Given the description of an element on the screen output the (x, y) to click on. 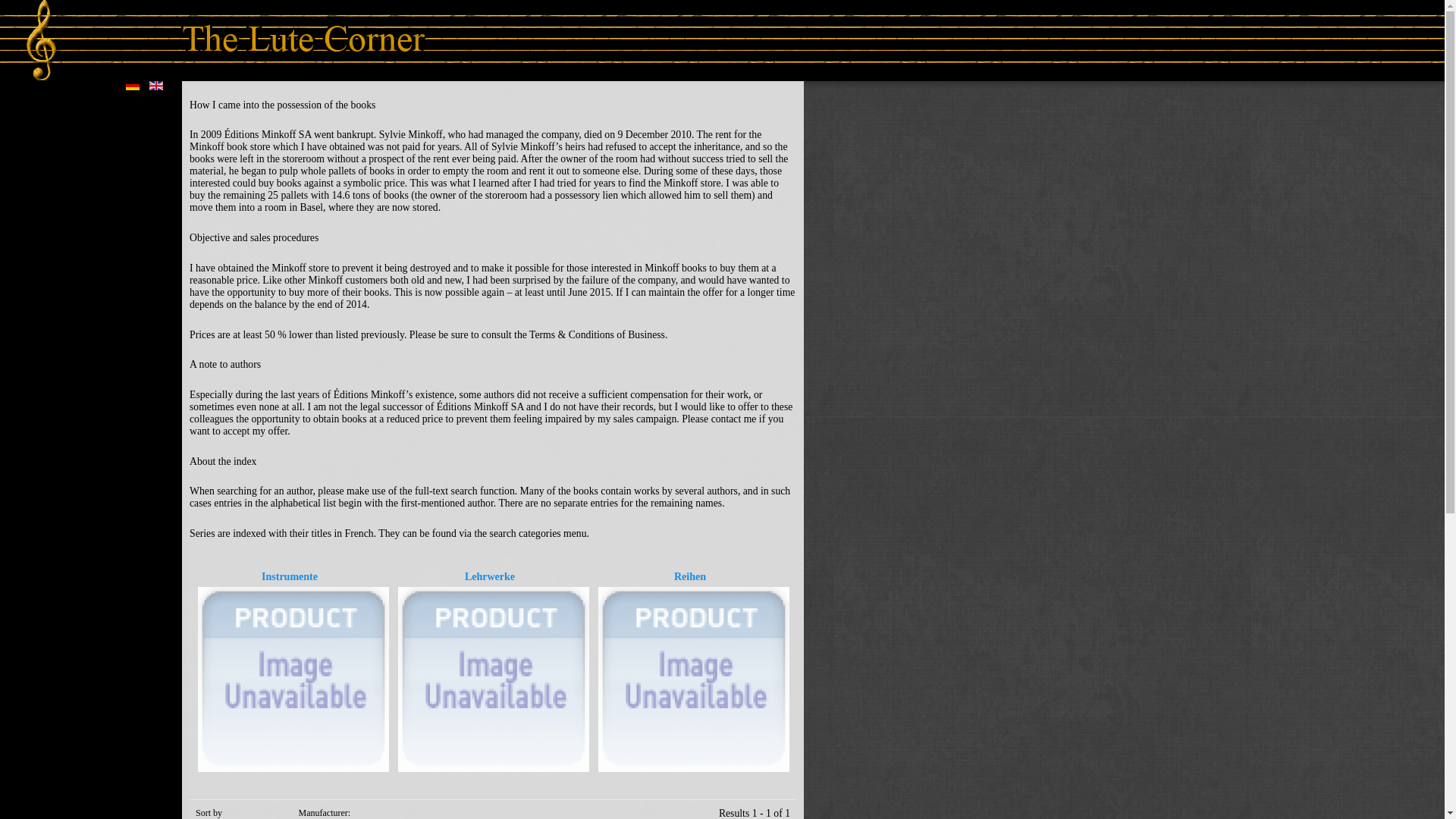
Lehrwerke Element type: text (493, 674)
Instrumente Element type: text (293, 674)
Deutsch Element type: hover (132, 85)
English (UK) Element type: hover (156, 85)
Reihen Element type: text (693, 674)
